Given the description of an element on the screen output the (x, y) to click on. 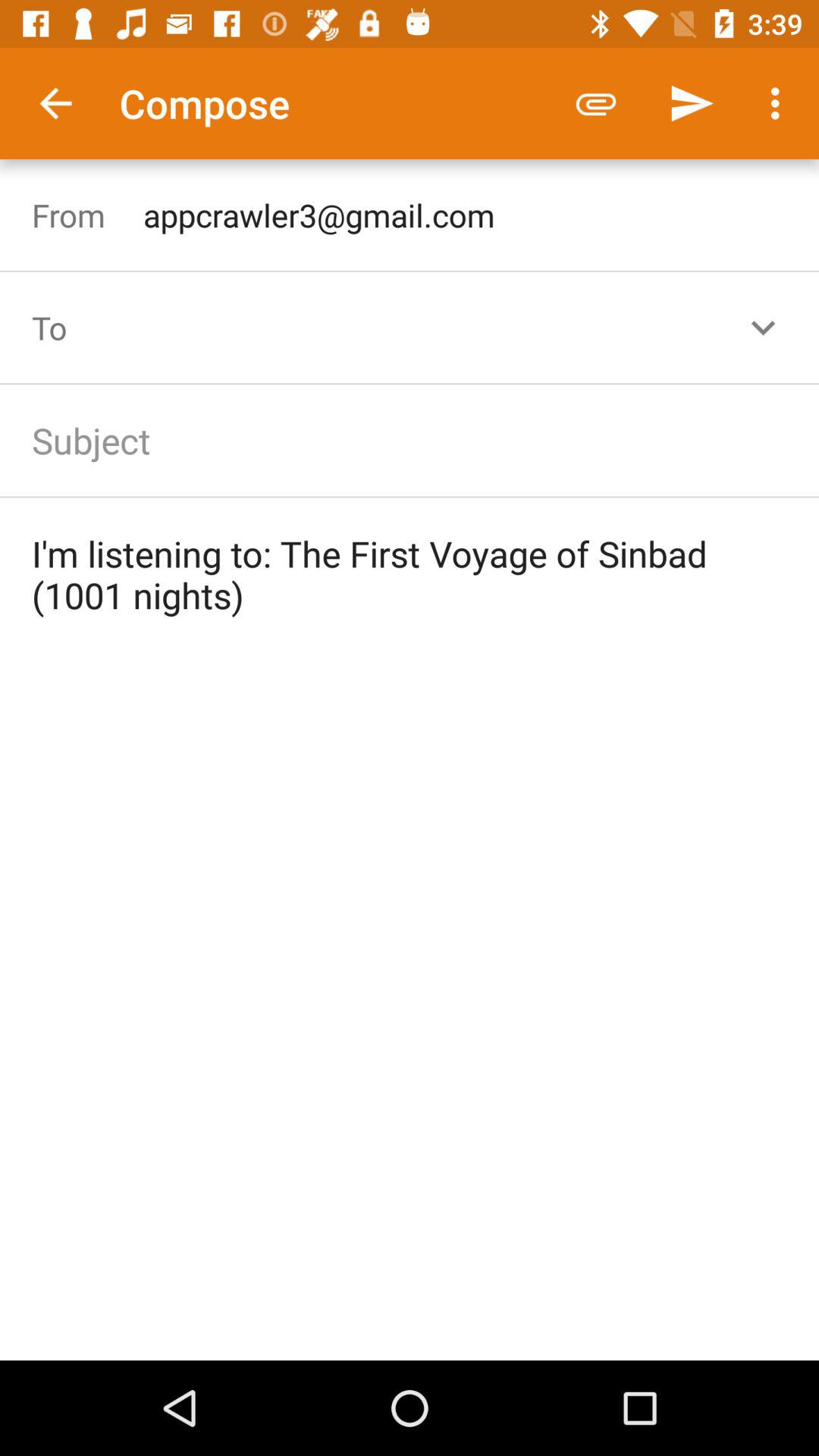
select the item above appcrawler3@gmail.com item (779, 103)
